Given the description of an element on the screen output the (x, y) to click on. 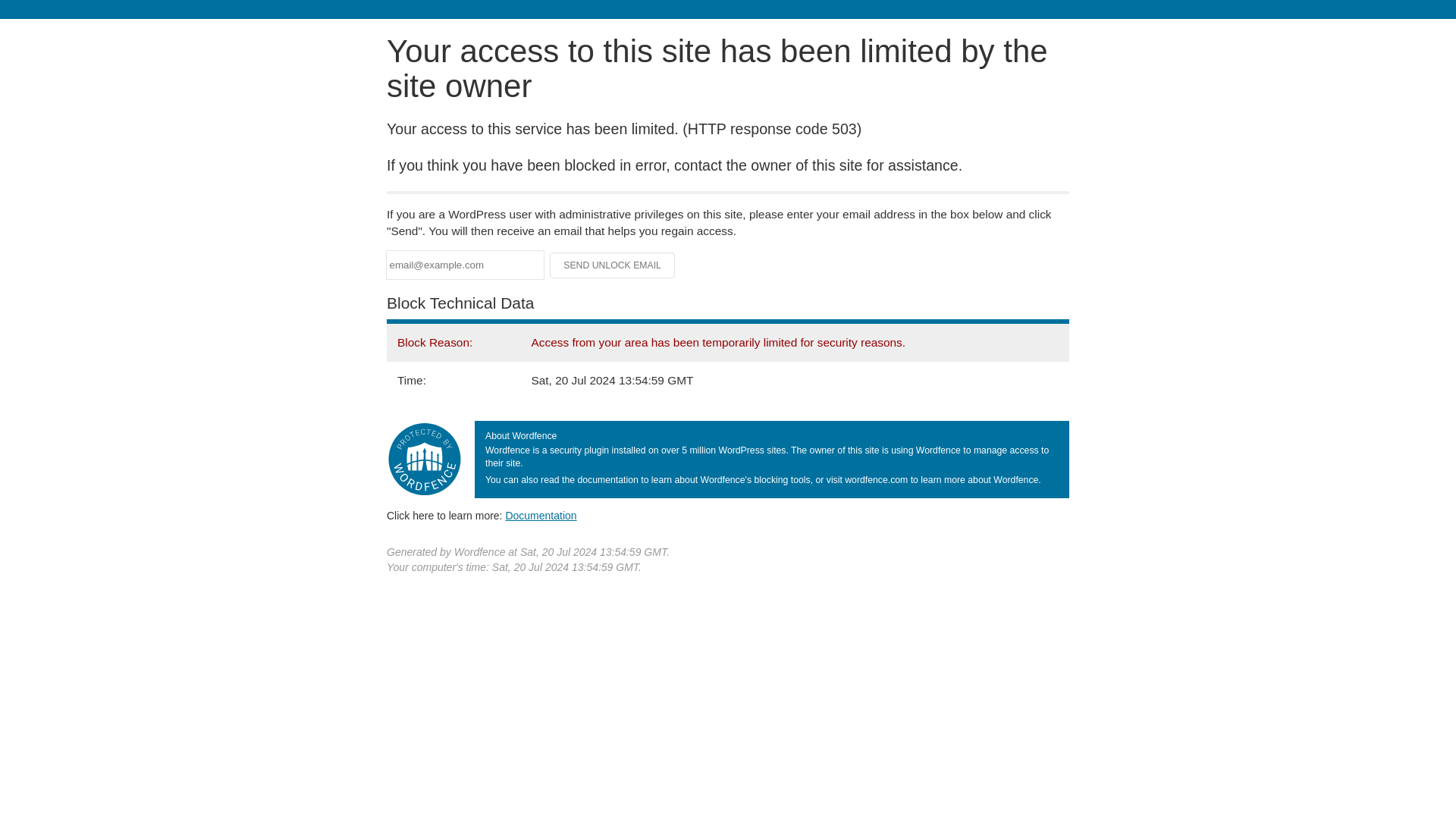
Send Unlock Email (612, 265)
Send Unlock Email (612, 265)
Documentation (540, 515)
